Given the description of an element on the screen output the (x, y) to click on. 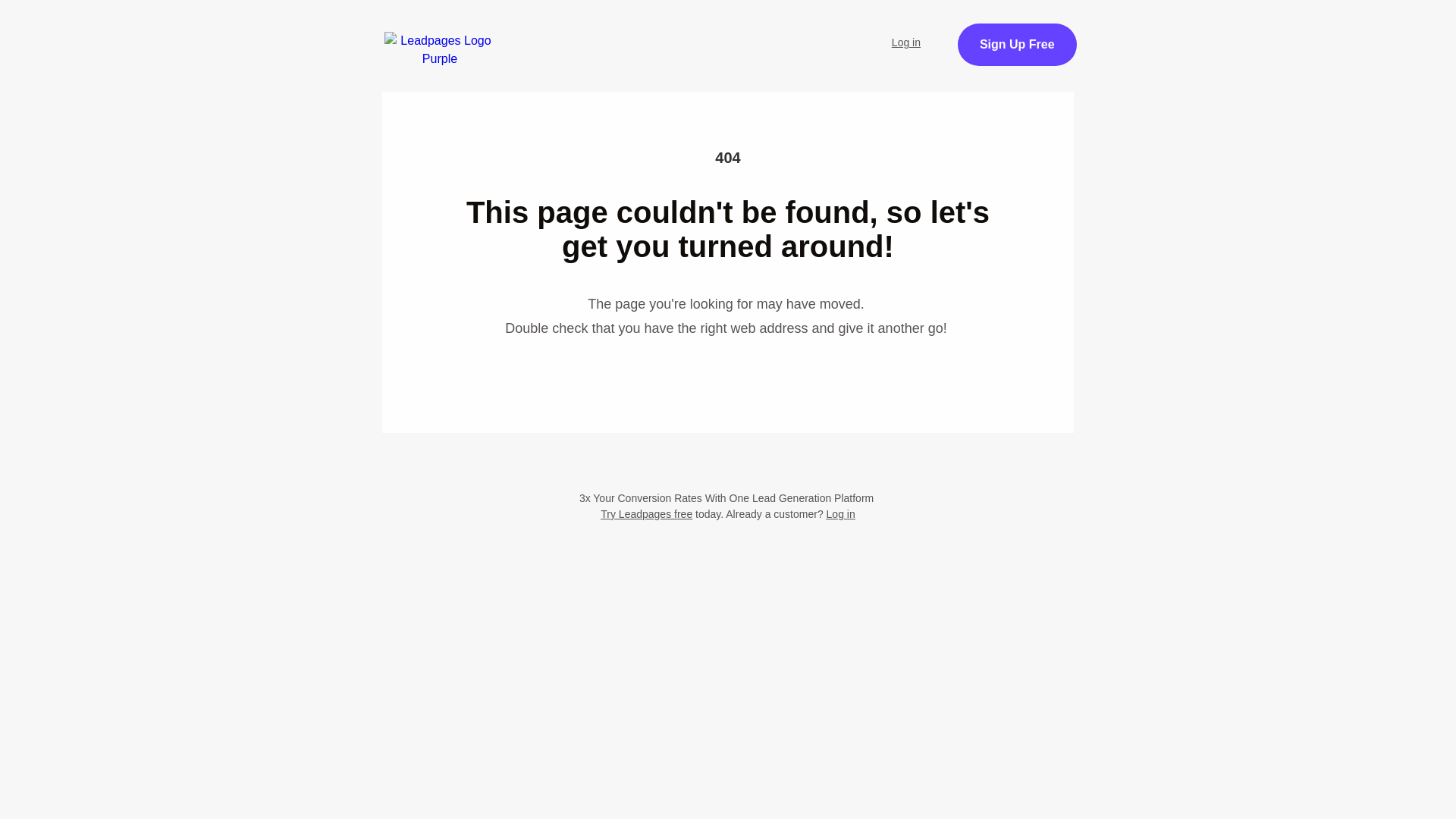
Log in (905, 42)
Log in (841, 513)
Try Leadpages free (646, 513)
Sign Up Free (1017, 44)
